Given the description of an element on the screen output the (x, y) to click on. 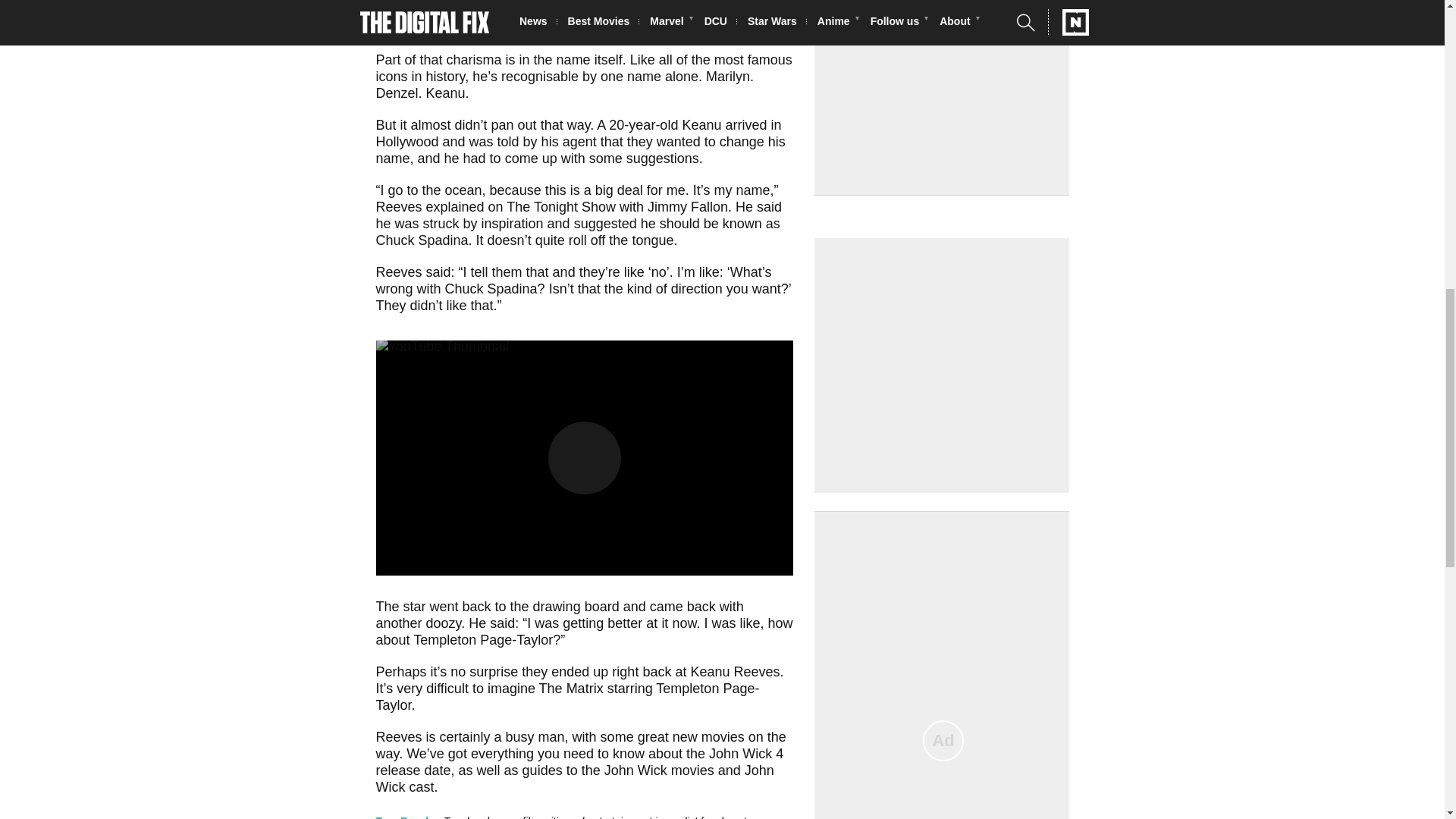
John Wick 4 release date (579, 762)
new movies (708, 736)
science fiction movie (718, 1)
The Matrix (571, 688)
action movie (525, 11)
